Given the description of an element on the screen output the (x, y) to click on. 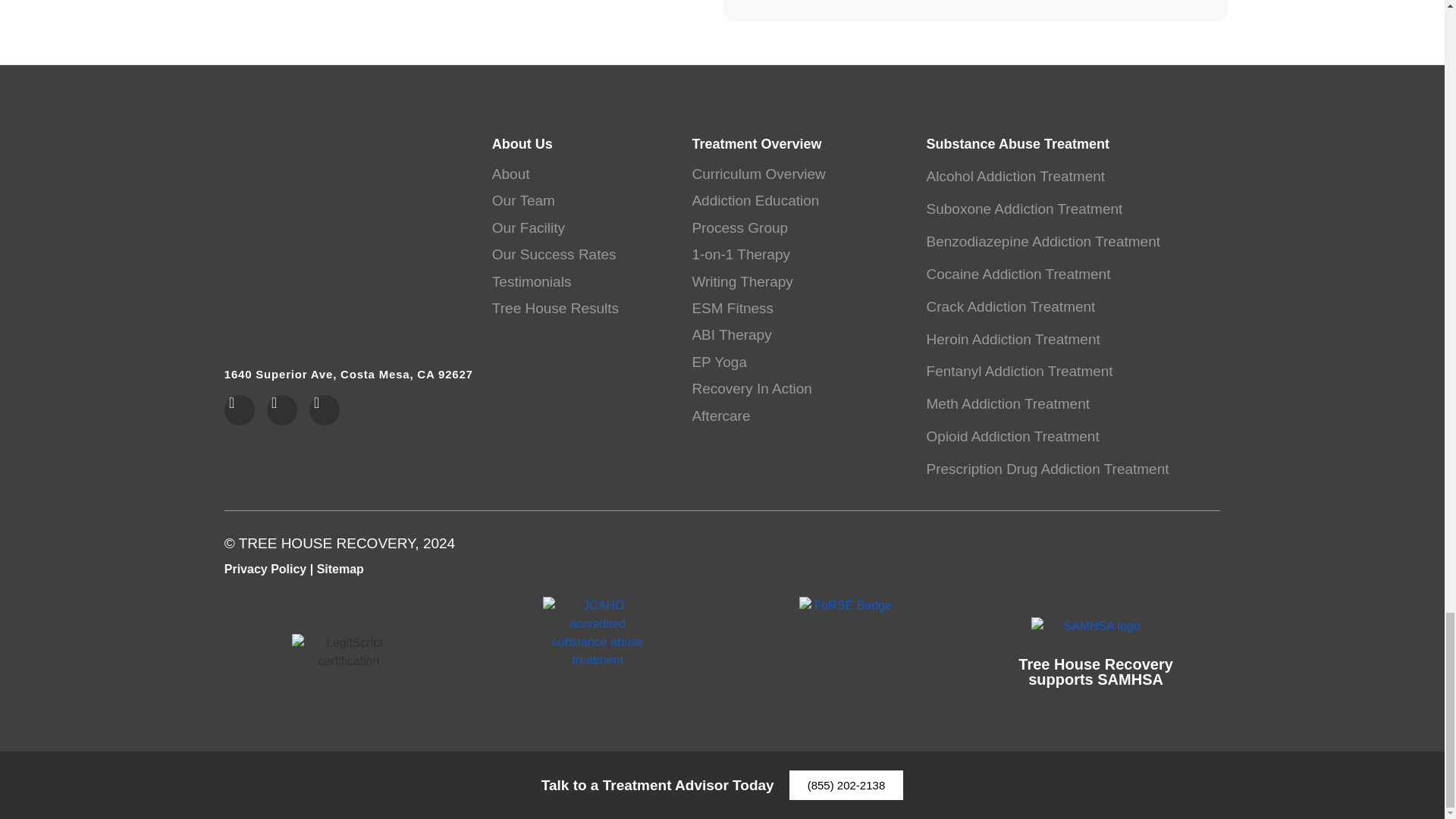
Tree house recovery, costa mesa, California (348, 248)
